Given the description of an element on the screen output the (x, y) to click on. 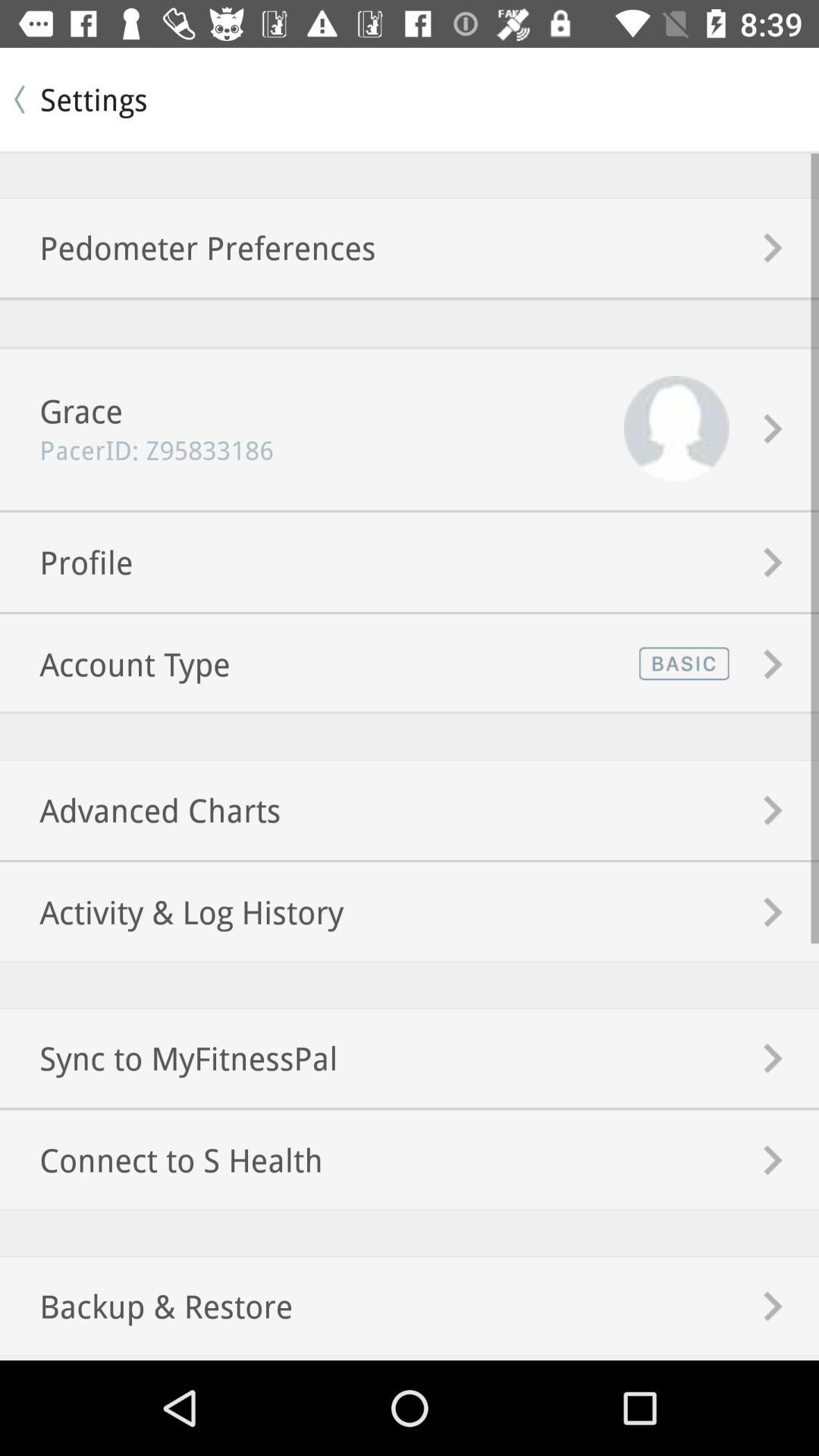
launch profile icon (66, 561)
